Given the description of an element on the screen output the (x, y) to click on. 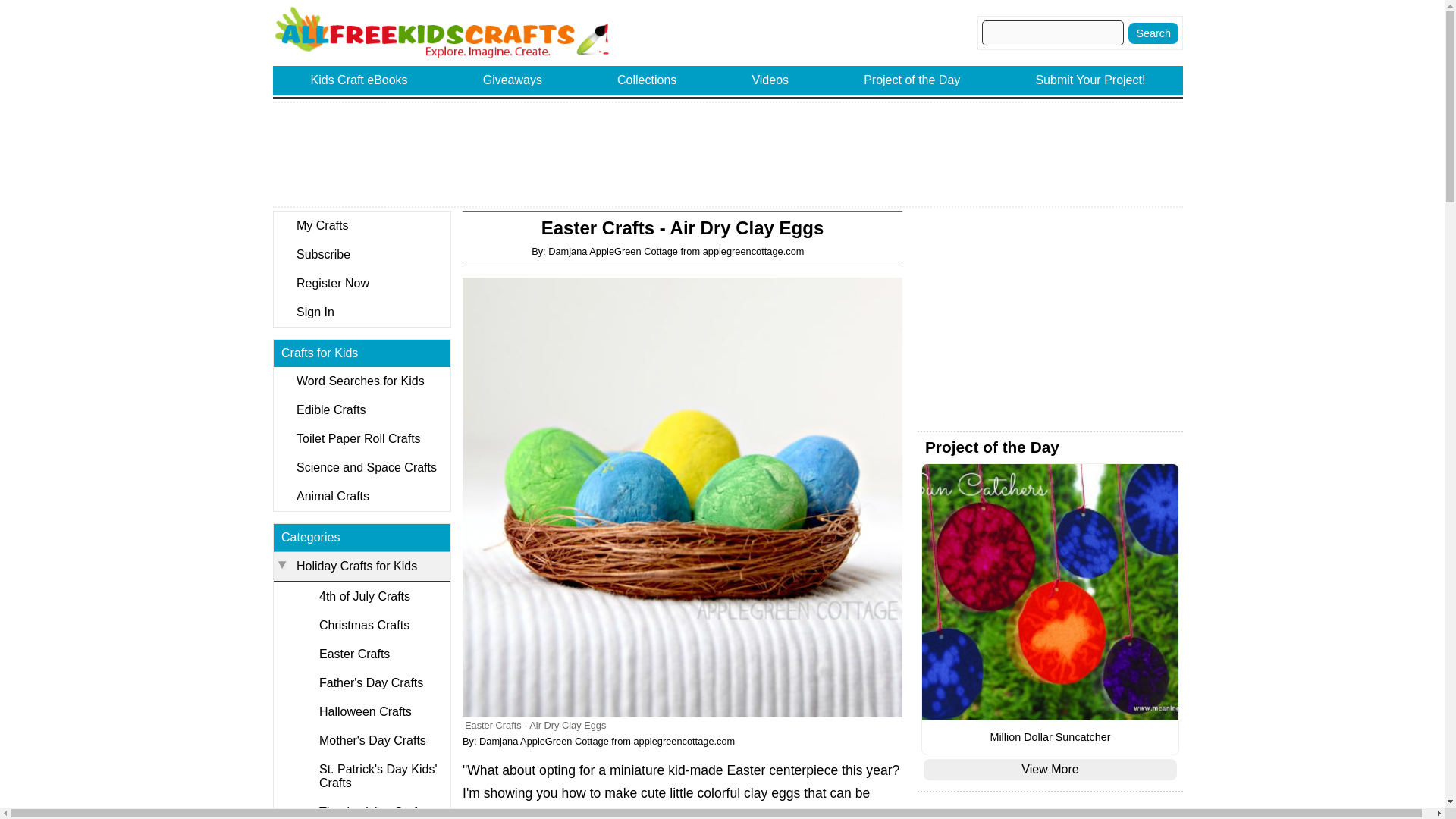
My Crafts (361, 225)
Subscribe (361, 254)
Sign In (361, 312)
Register Now (361, 283)
Search (1152, 33)
